Given the description of an element on the screen output the (x, y) to click on. 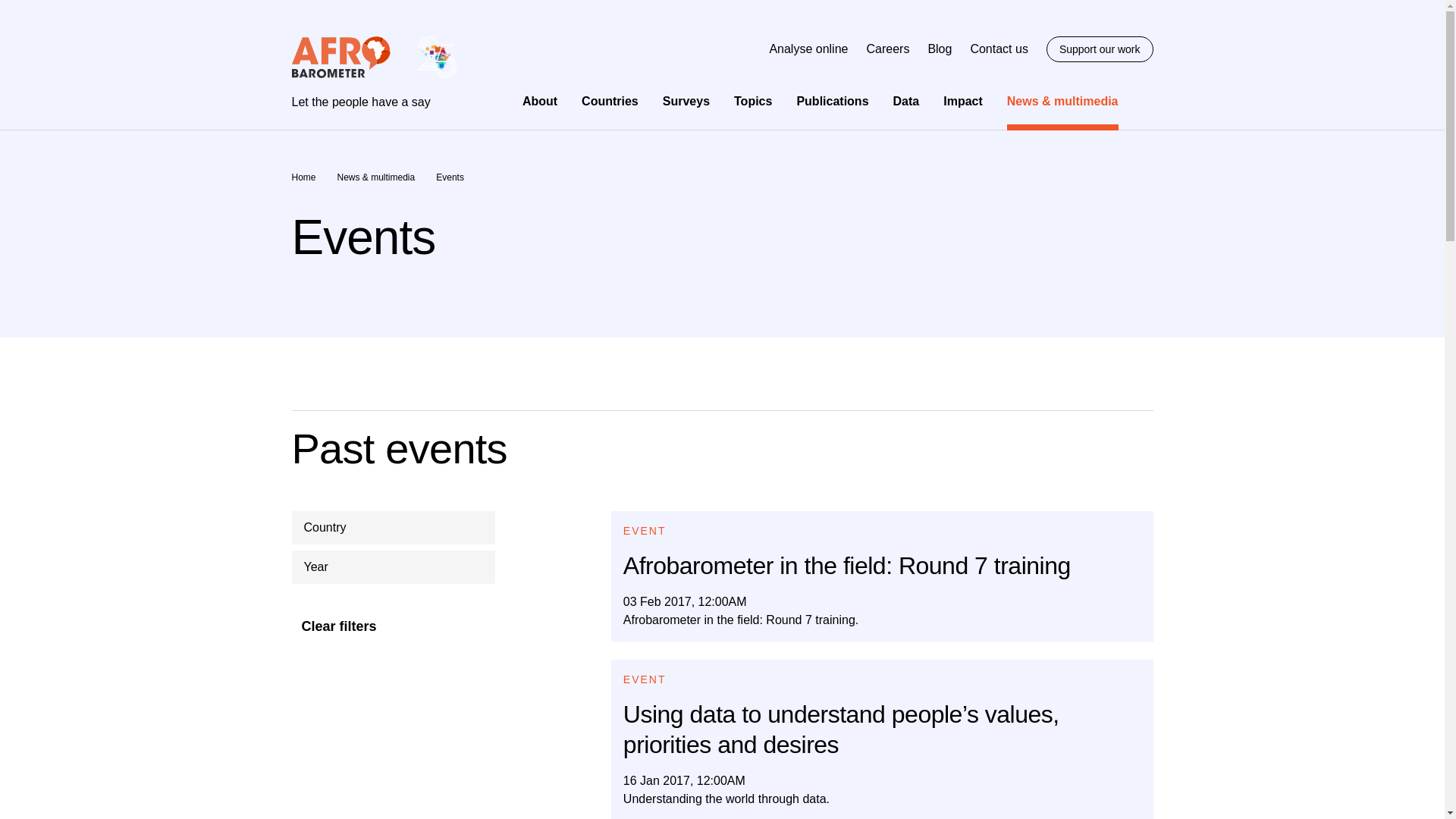
Countries (609, 101)
Support our work (1099, 49)
Careers (887, 48)
Analyse online (807, 48)
Contact us (998, 48)
About (539, 101)
Afrobarometer in the field: Round 7 training (882, 576)
Publications (831, 101)
Topics (752, 101)
Blog (939, 48)
Surveys (686, 101)
Go to homepage (373, 73)
